Given the description of an element on the screen output the (x, y) to click on. 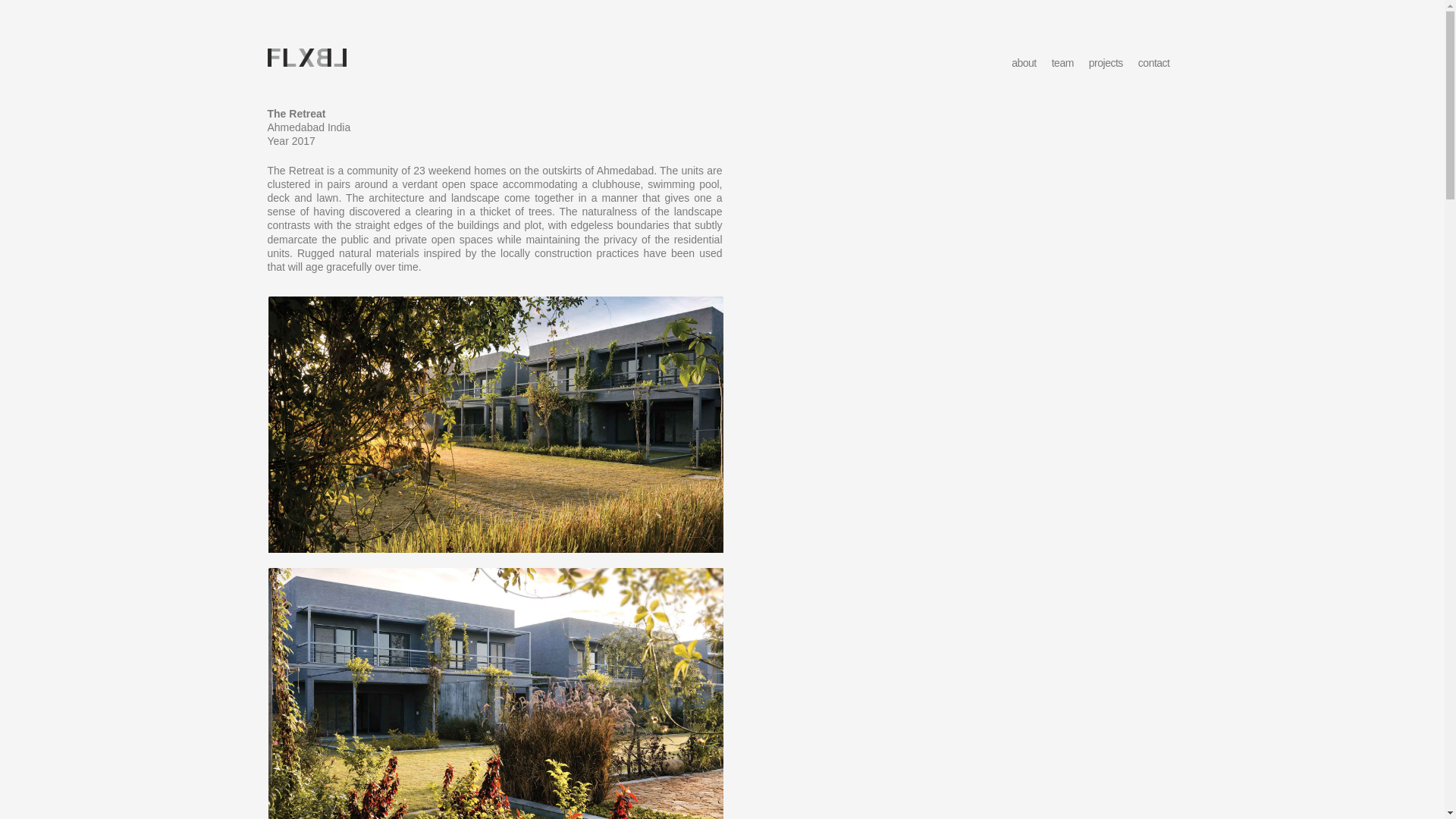
projects (1106, 62)
team (1062, 62)
about (1023, 62)
contact (1154, 62)
